Given the description of an element on the screen output the (x, y) to click on. 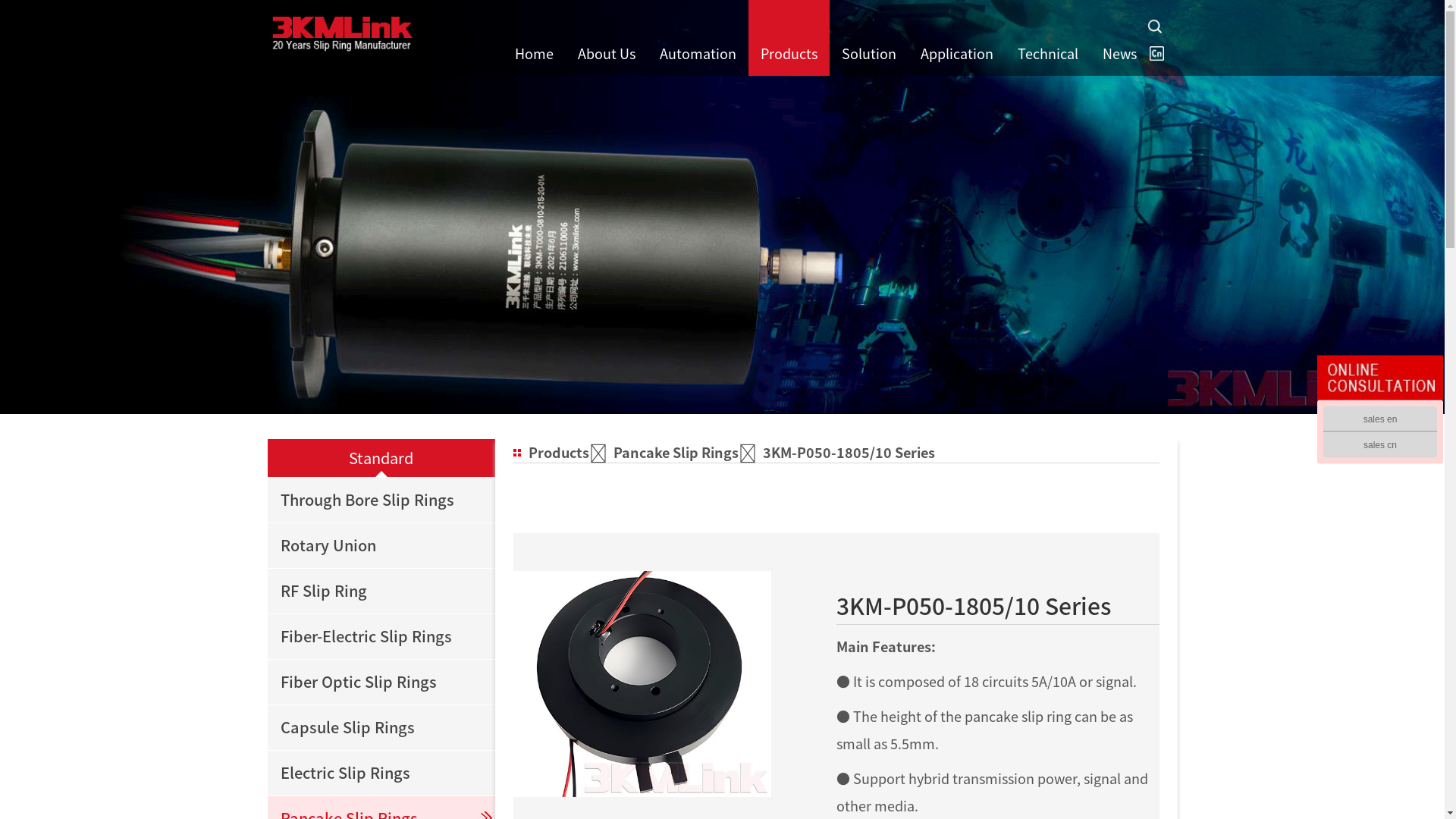
Pancake Slip Rings Element type: text (685, 451)
Rotary Union Element type: text (380, 544)
Electric Slip Rings Element type: text (380, 772)
3KM-P050-1805/10 Series Element type: text (848, 451)
Fiber-Electric Slip Rings Element type: text (380, 635)
Through Bore Slip Rings Element type: text (380, 499)
Products Element type: text (568, 451)
RF Slip Ring Element type: text (380, 590)
Capsule Slip Rings Element type: text (380, 726)
Fiber Optic Slip Rings Element type: text (380, 681)
search Element type: text (1154, 26)
